Given the description of an element on the screen output the (x, y) to click on. 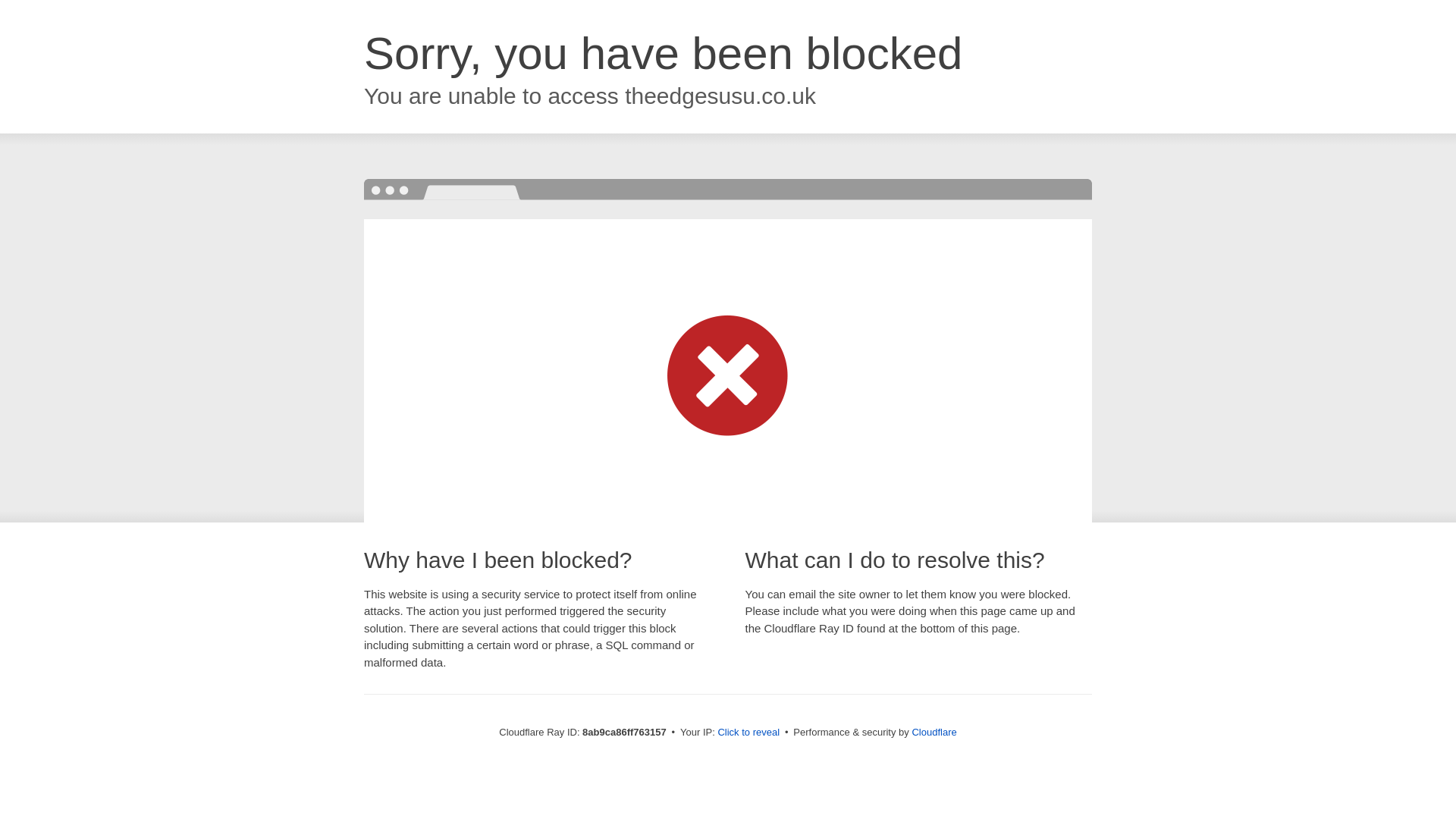
Cloudflare (933, 731)
Click to reveal (747, 732)
